Given the description of an element on the screen output the (x, y) to click on. 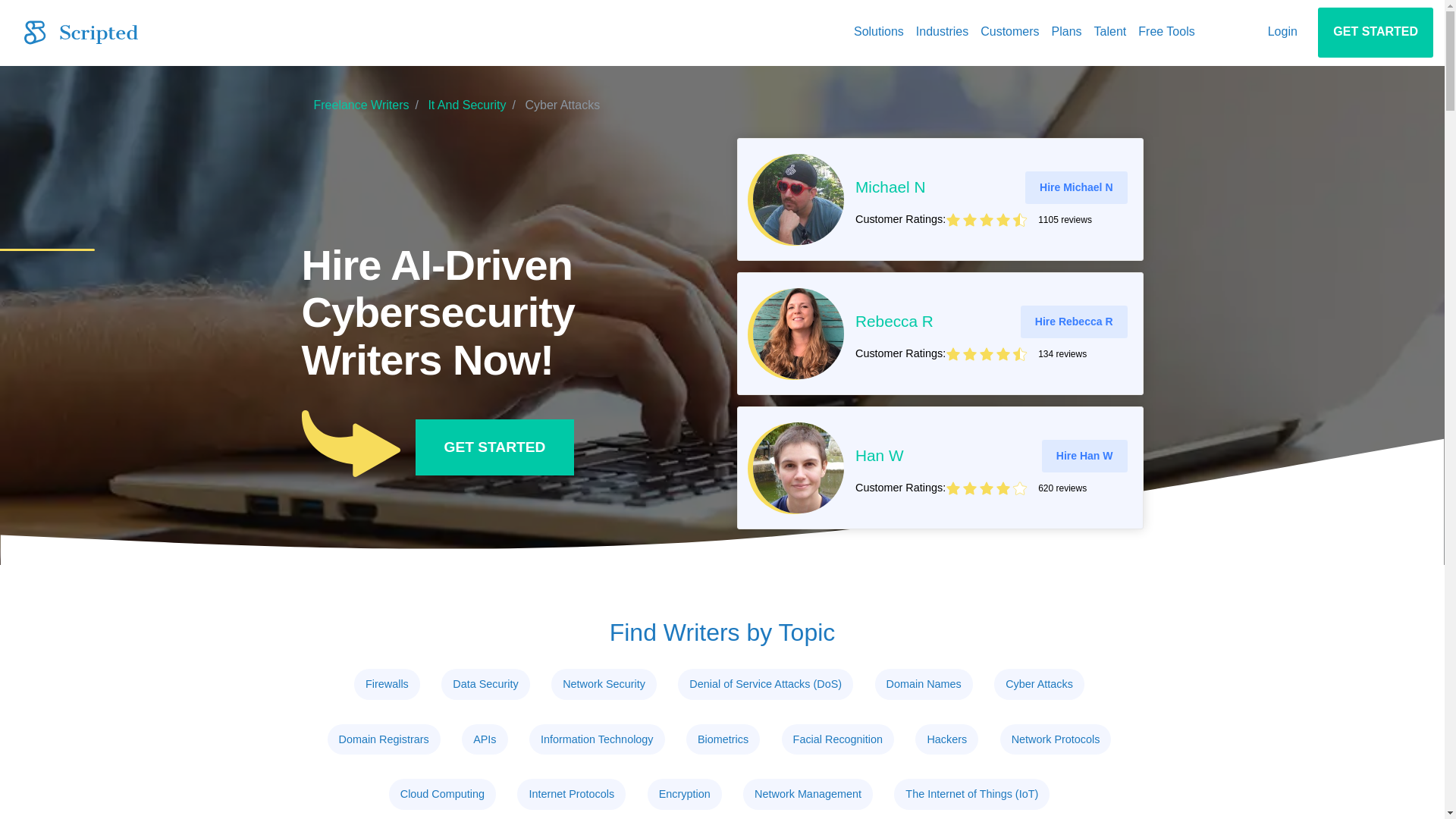
Customers (1009, 32)
Solutions (878, 32)
4.4 Average Rating (1035, 488)
Free Tools (1165, 32)
GET STARTED (1374, 32)
4.8 Average Rating (1035, 353)
Talent (1109, 32)
4.9 Average Rating (1035, 219)
Industries (942, 32)
